Given the description of an element on the screen output the (x, y) to click on. 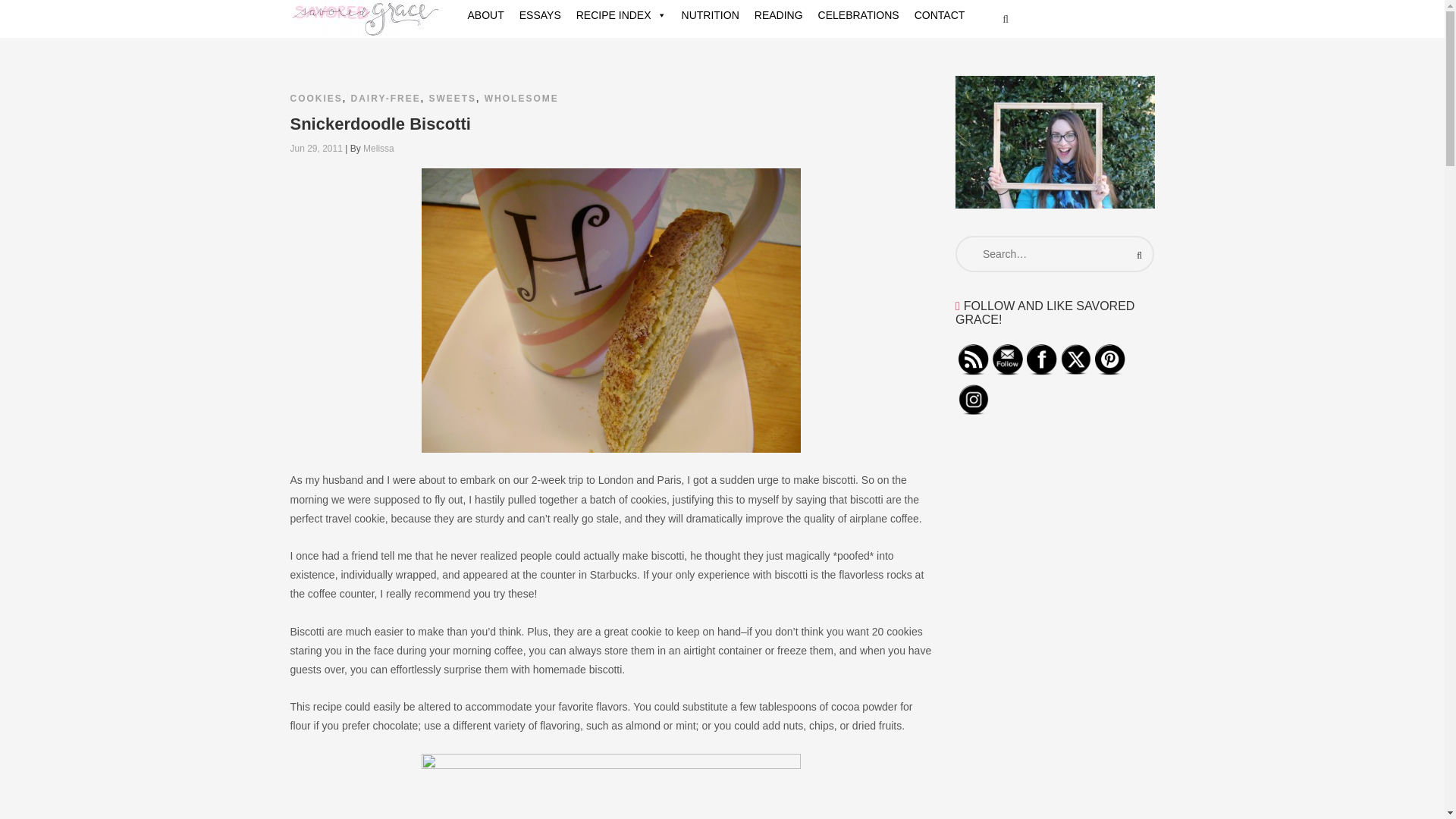
ESSAYS (540, 15)
Wet and Dry (611, 786)
RSS (973, 359)
CONTACT (939, 15)
CELEBRATIONS (858, 15)
READING (778, 15)
RECIPE INDEX (621, 15)
NUTRITION (710, 15)
Snickerdoodle Biscotti and Coffee (611, 310)
Facebook (1041, 359)
